Given the description of an element on the screen output the (x, y) to click on. 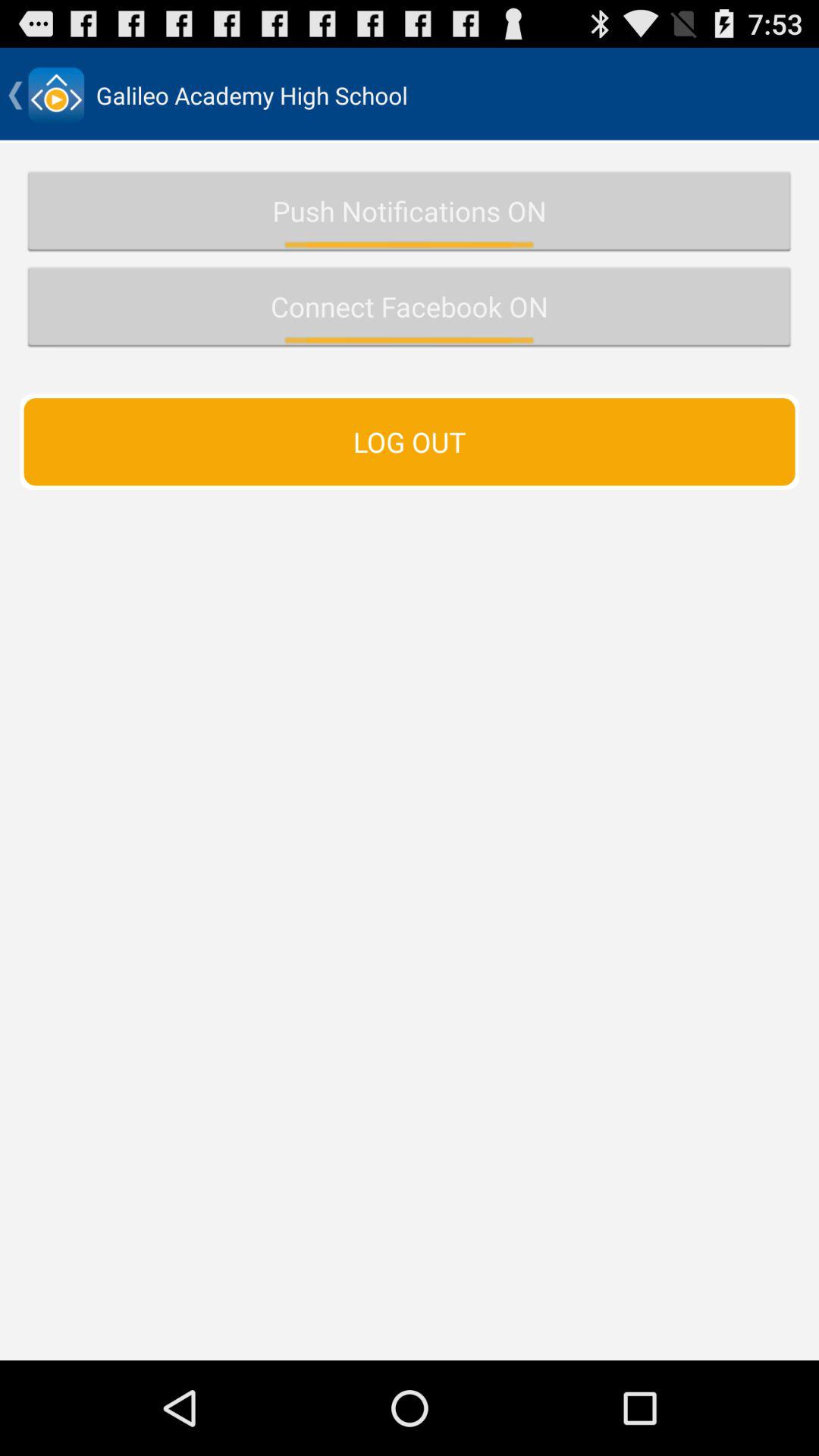
turn on the push notifications on icon (409, 210)
